Given the description of an element on the screen output the (x, y) to click on. 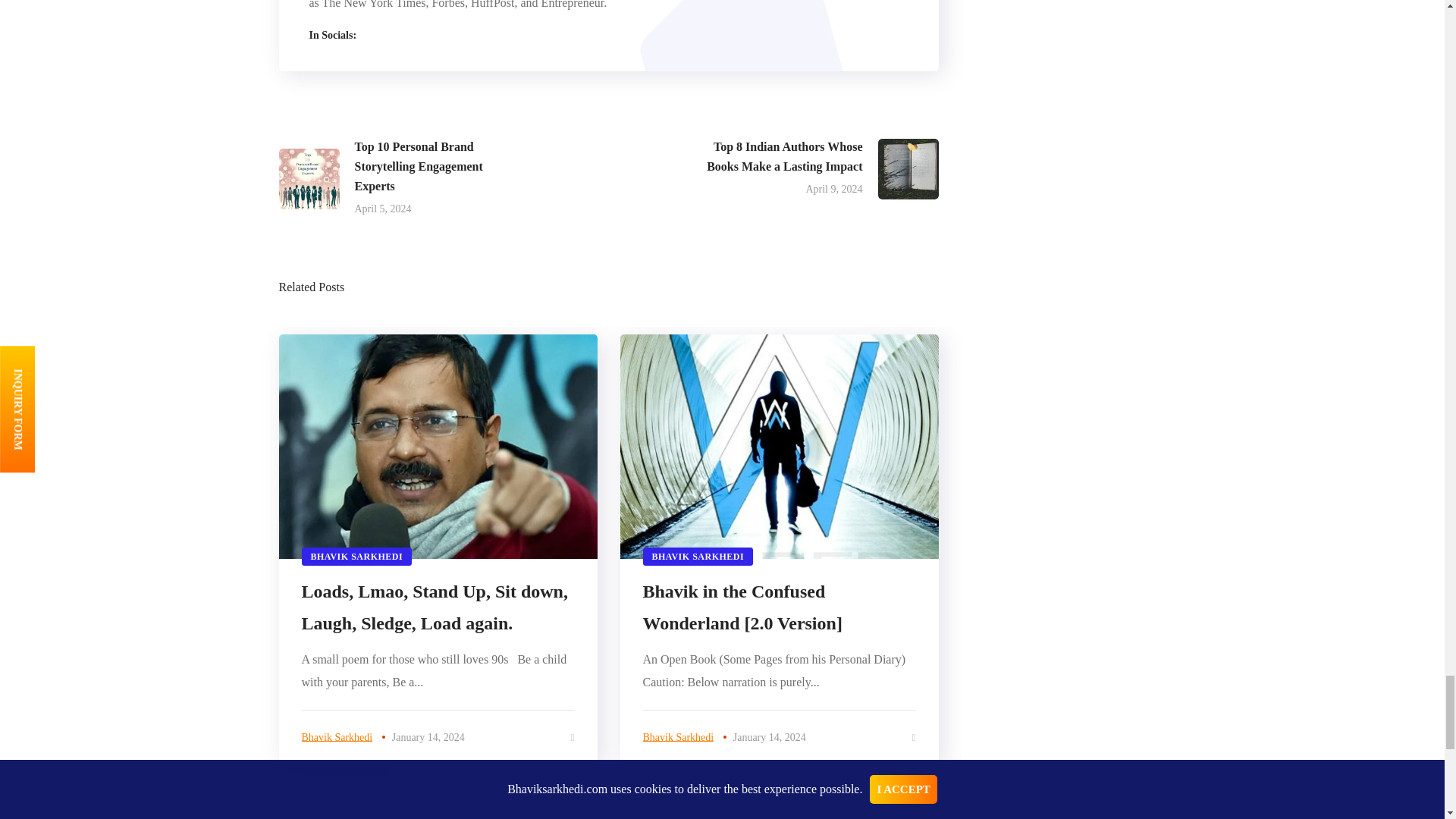
Top 8 Indian Authors Whose Books Make a Lasting Impact (821, 168)
Top 10 Personal Brand Storytelling Engagement Experts (396, 178)
